Given the description of an element on the screen output the (x, y) to click on. 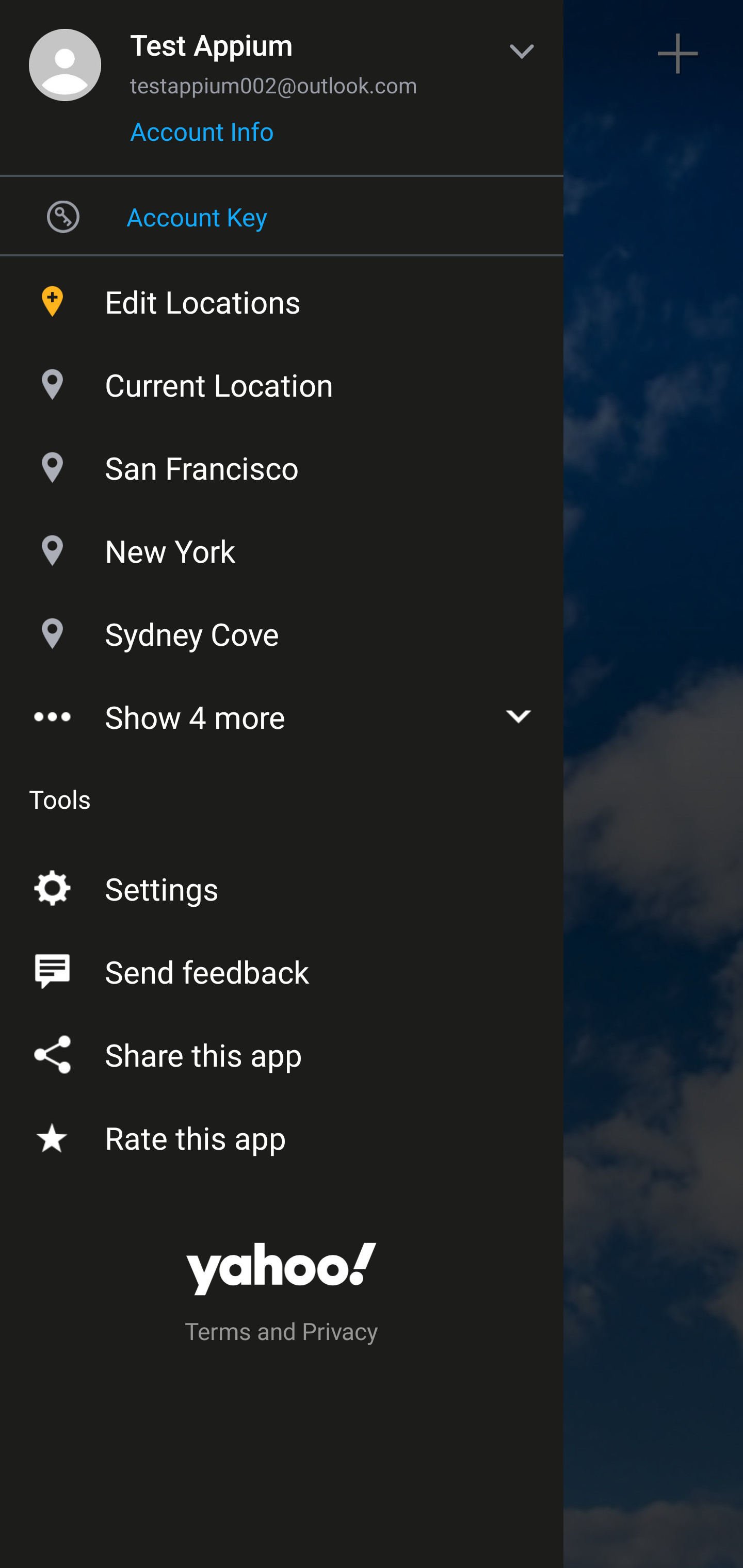
Sidebar (64, 54)
Account Info (202, 137)
Account Key (281, 216)
Edit Locations (281, 296)
Current Location (281, 379)
San Francisco (281, 462)
New York (281, 546)
Sydney Cove (281, 629)
Settings (281, 884)
Send feedback (281, 967)
Share this app (281, 1050)
Terms and Privacy Terms and privacy button (281, 1334)
